Given the description of an element on the screen output the (x, y) to click on. 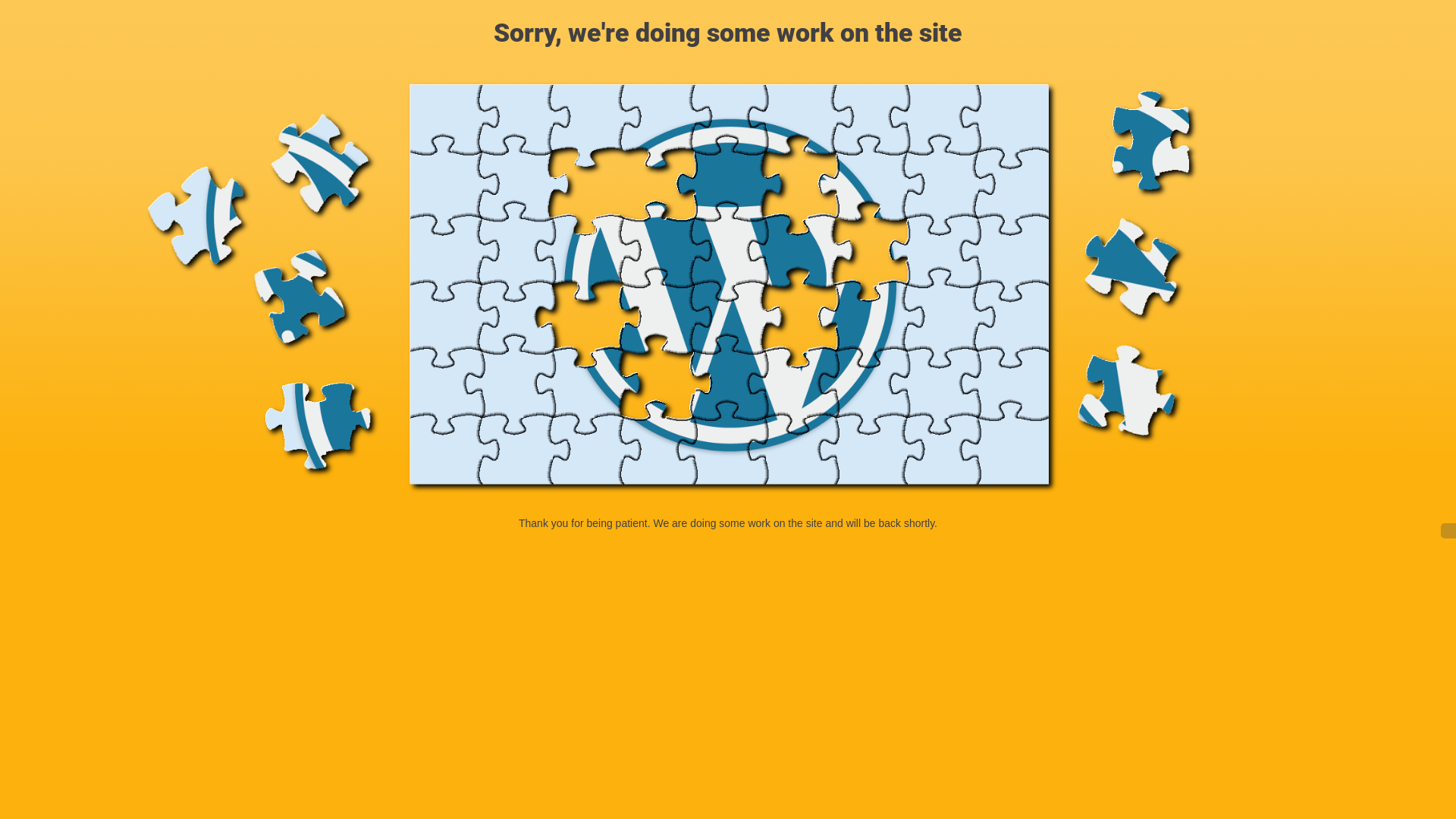
We're putting together a new site for you Element type: hover (727, 287)
